Given the description of an element on the screen output the (x, y) to click on. 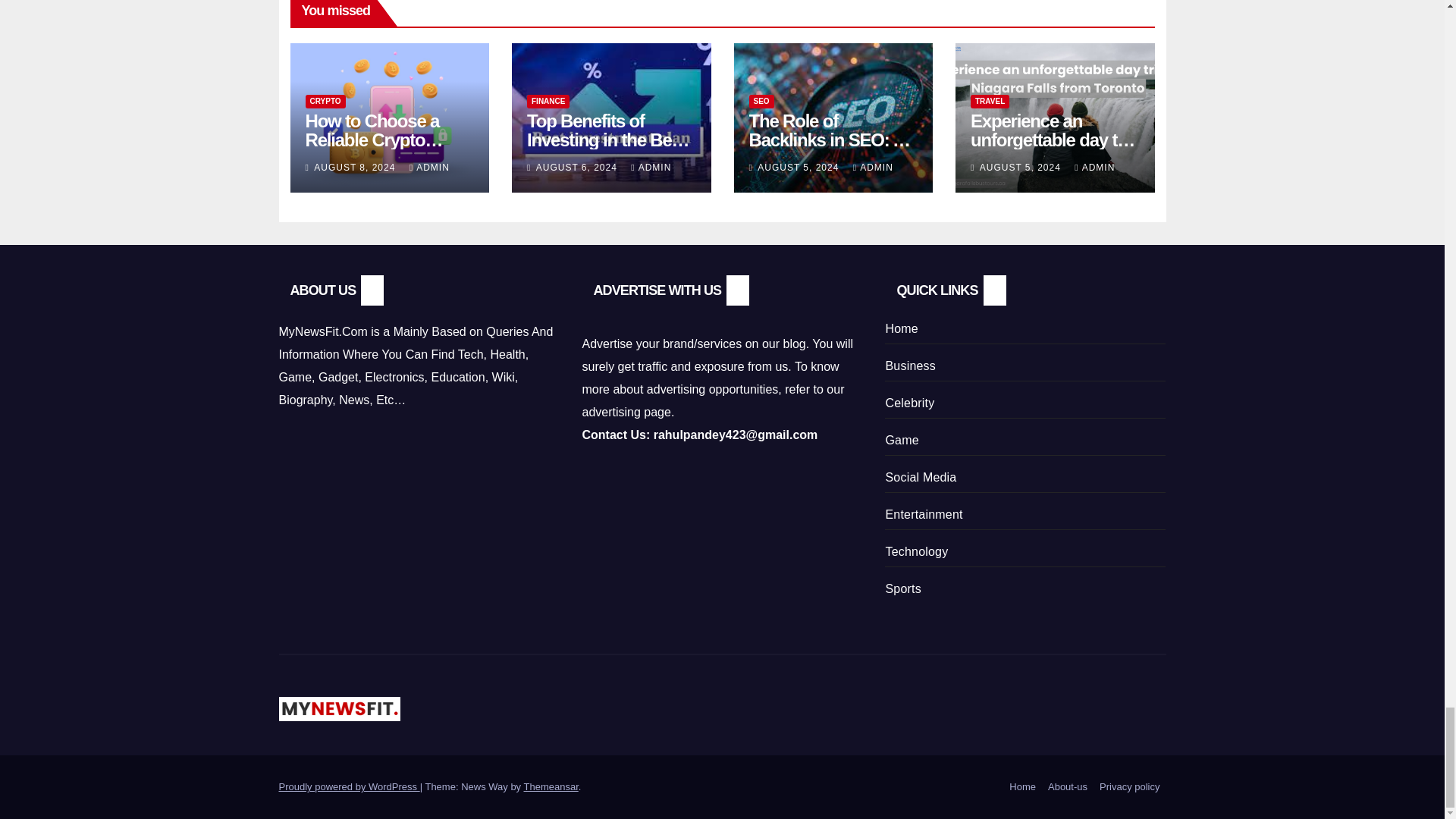
Permalink to: How to Choose a Reliable Crypto Exchange (373, 139)
